Given the description of an element on the screen output the (x, y) to click on. 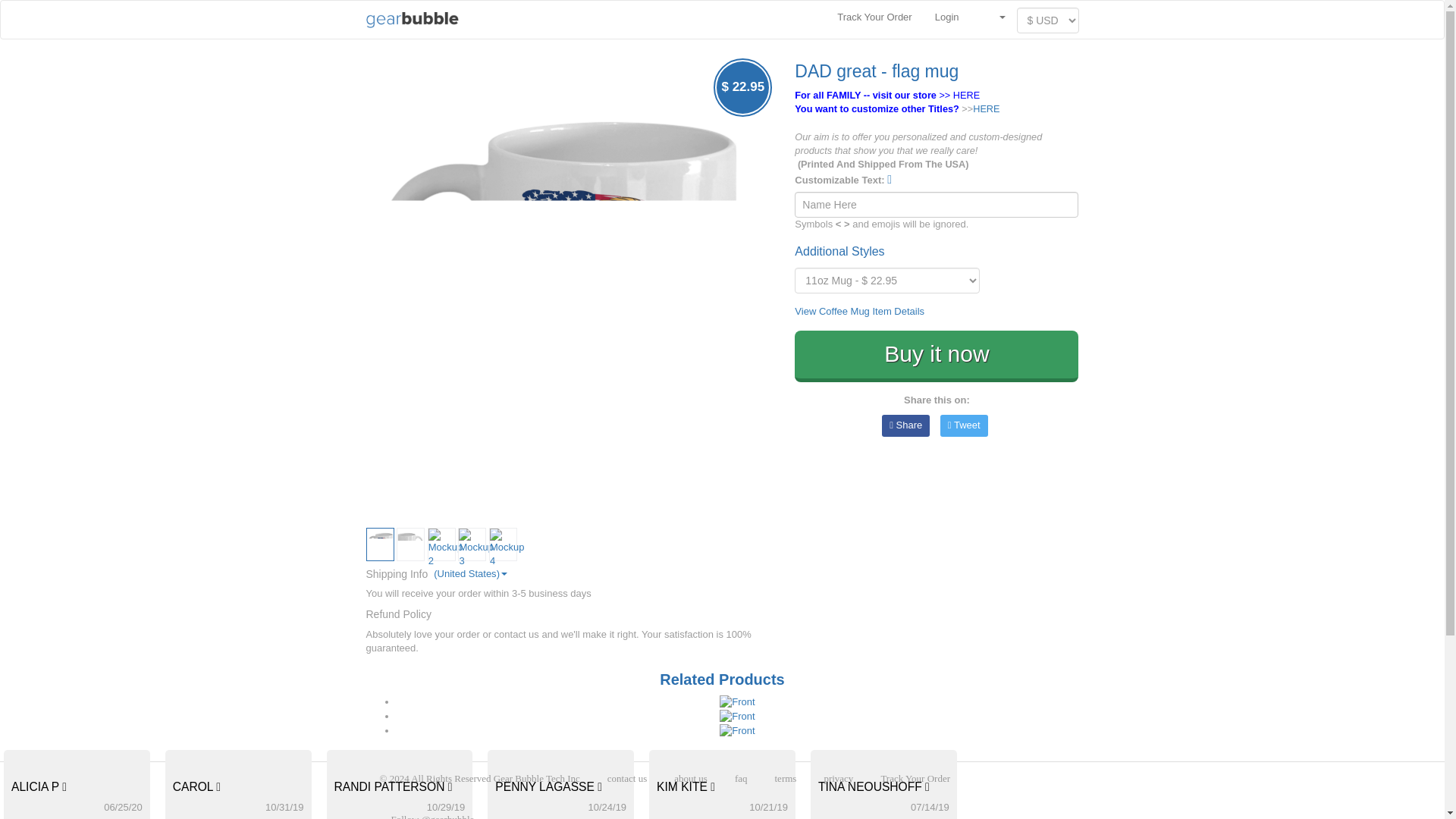
Buy it now (936, 356)
 Share (906, 425)
HERE (985, 108)
HERE (966, 94)
Login (947, 16)
Track Your Order (874, 16)
View Coffee Mug Item Details (859, 310)
 Tweet (964, 425)
